Given the description of an element on the screen output the (x, y) to click on. 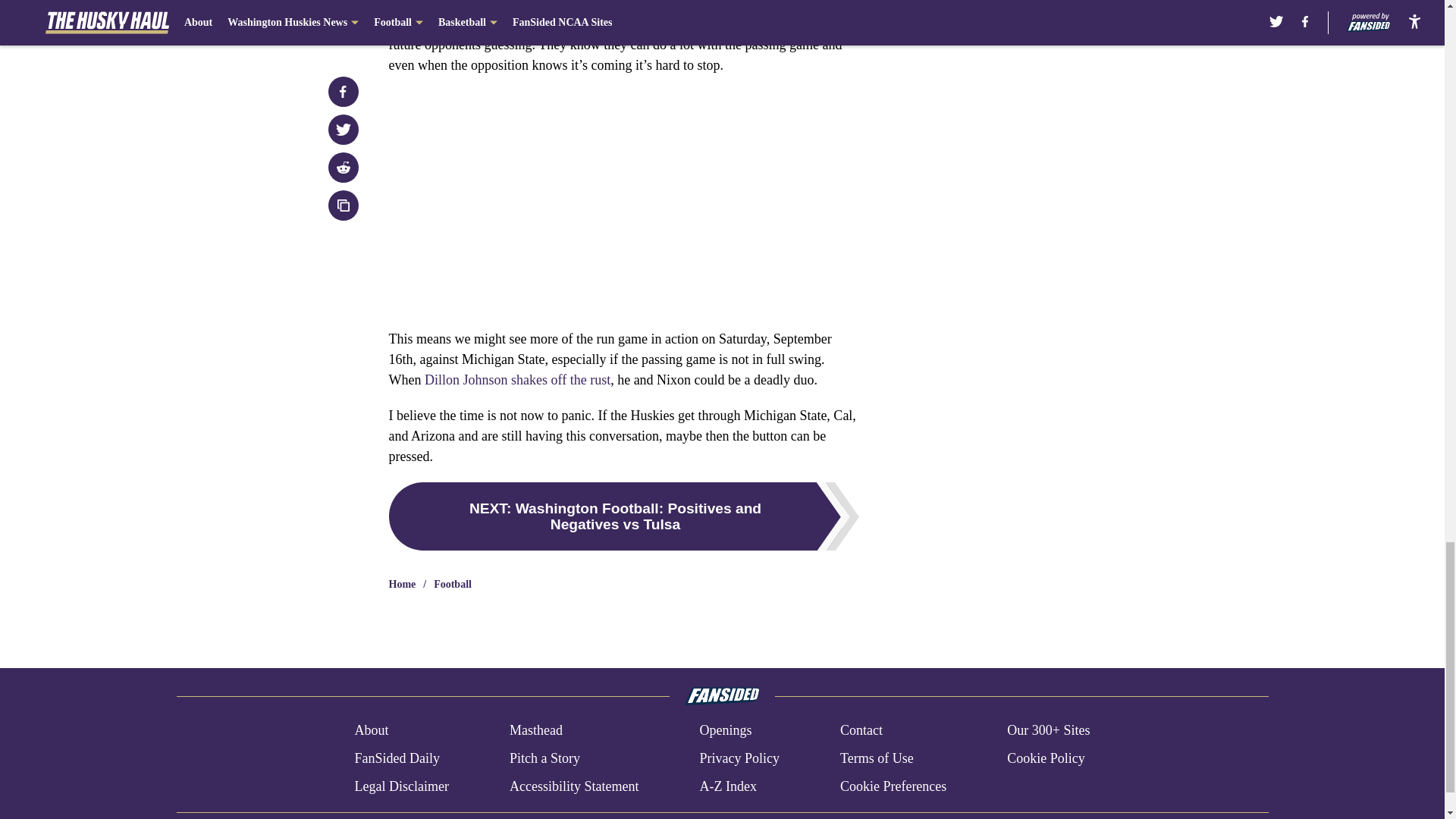
NEXT: Washington Football: Positives and Negatives vs Tulsa (623, 516)
FanSided Daily (396, 758)
Masthead (535, 730)
Football (452, 584)
Contact (861, 730)
Home (401, 584)
Legal Disclaimer (400, 786)
Openings (724, 730)
Privacy Policy (738, 758)
About (370, 730)
Pitch a Story (544, 758)
Dillon Johnson shakes off the rust (517, 379)
Accessibility Statement (574, 786)
Terms of Use (877, 758)
Cookie Policy (1045, 758)
